Given the description of an element on the screen output the (x, y) to click on. 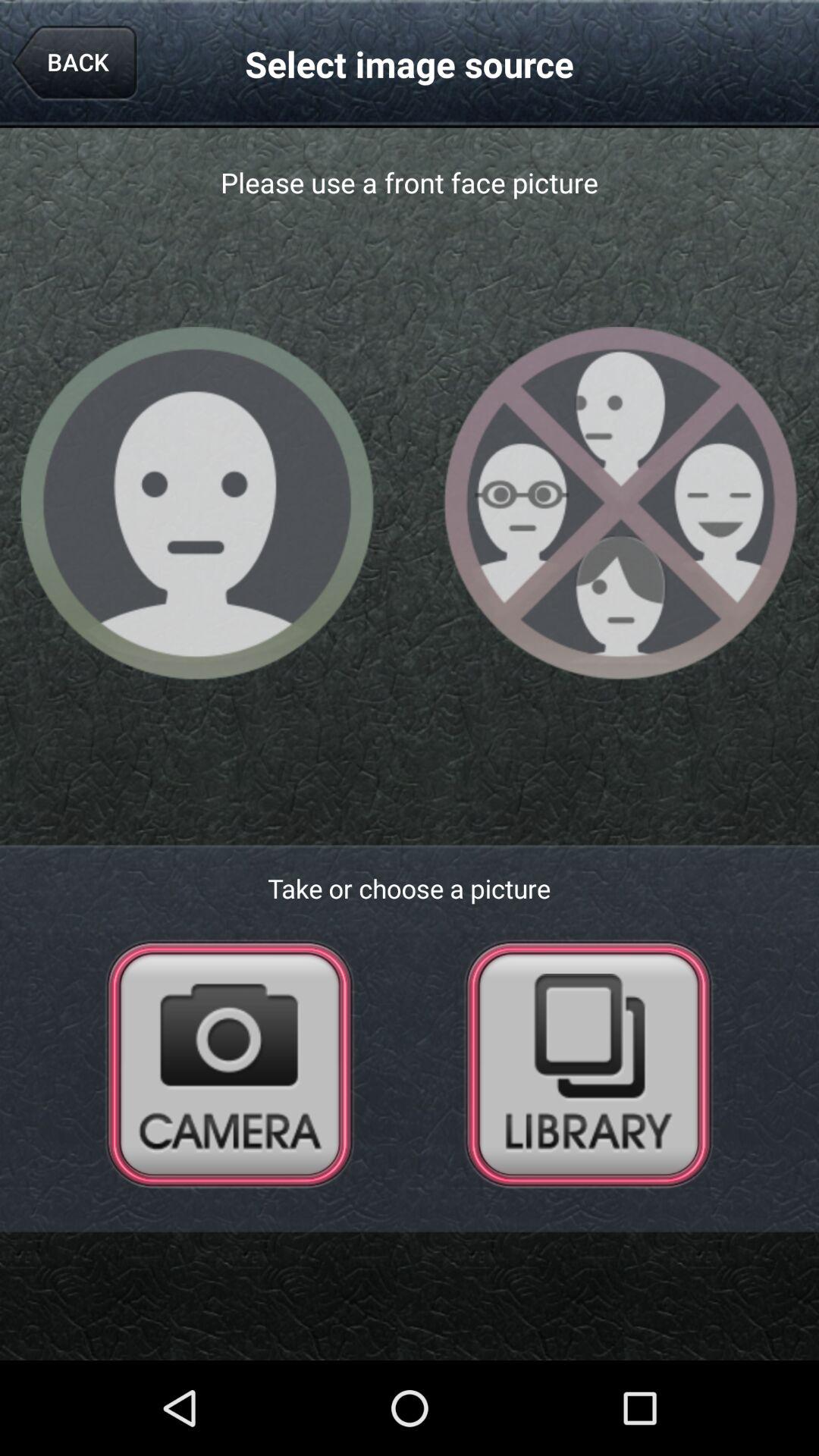
select the item next to select image source item (74, 63)
